Given the description of an element on the screen output the (x, y) to click on. 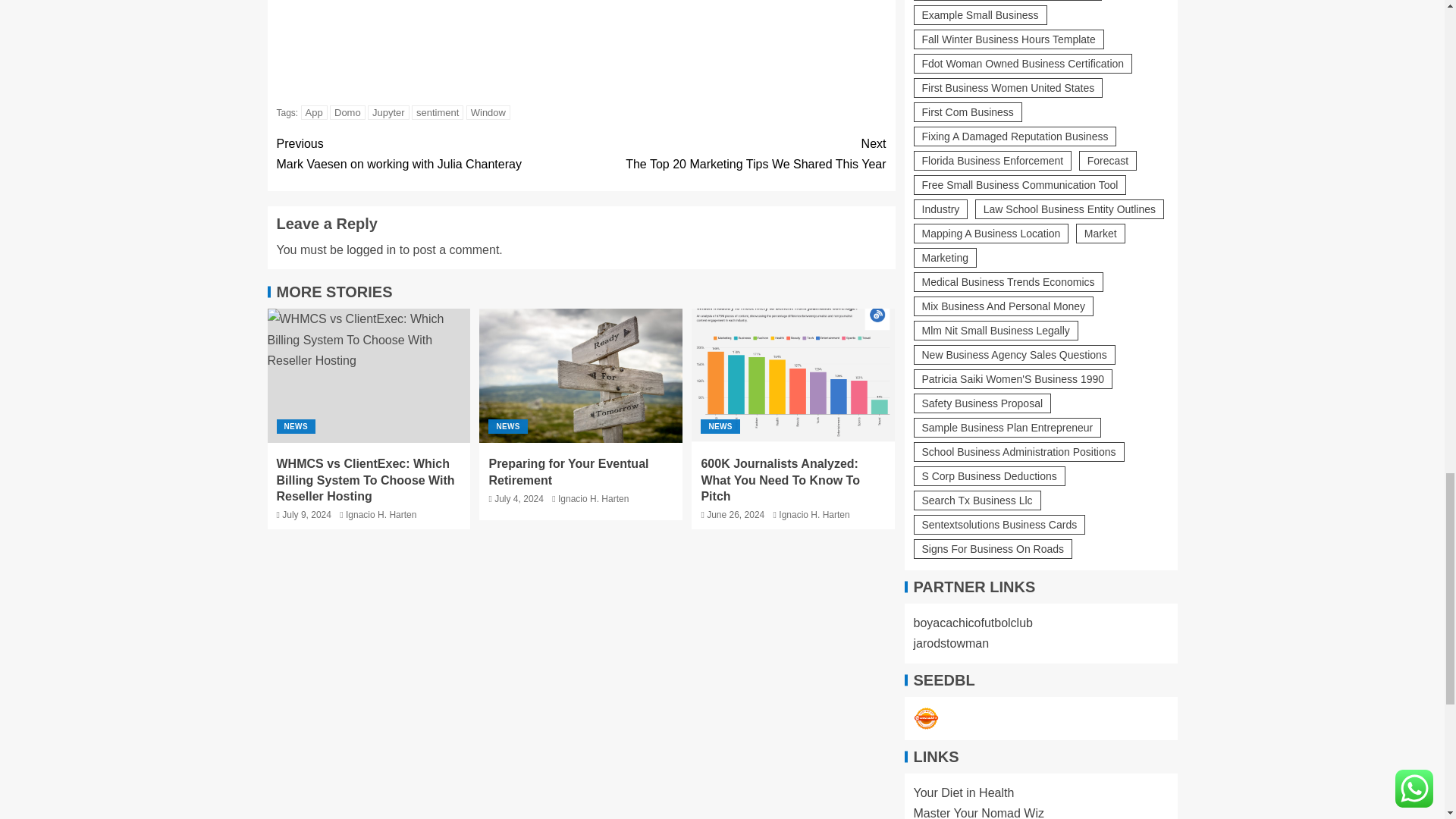
logged in (428, 153)
NEWS (732, 153)
Domo (371, 249)
Seedbacklink (295, 426)
sentiment (347, 112)
Window (925, 718)
Preparing for Your Eventual Retirement (437, 112)
App (488, 112)
Jupyter (580, 375)
600K Journalists Analyzed: What You Need To Know To Pitch (314, 112)
